Given the description of an element on the screen output the (x, y) to click on. 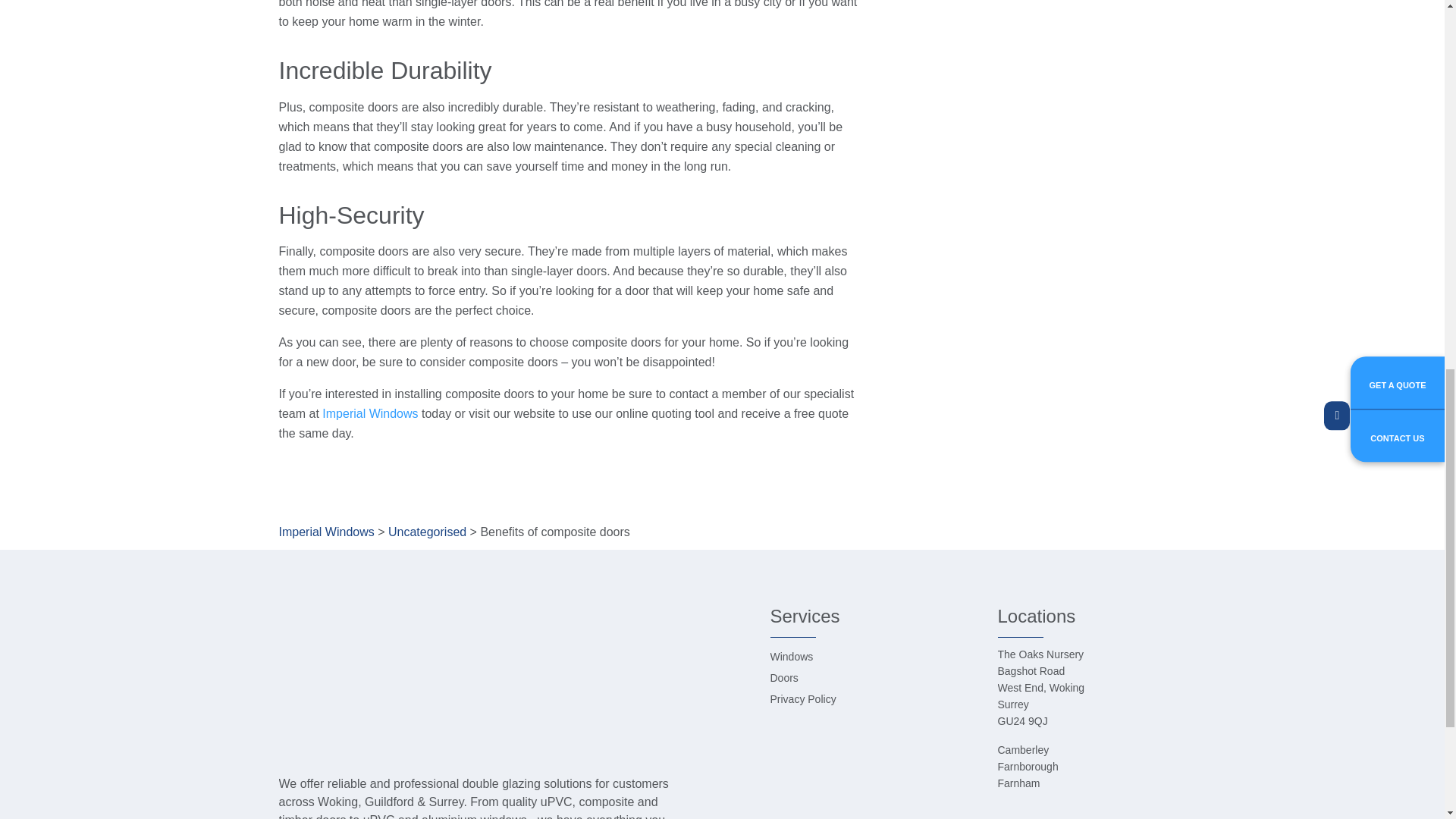
Go to Imperial Windows. (326, 531)
Go to the Uncategorised Category archives. (426, 531)
